Given the description of an element on the screen output the (x, y) to click on. 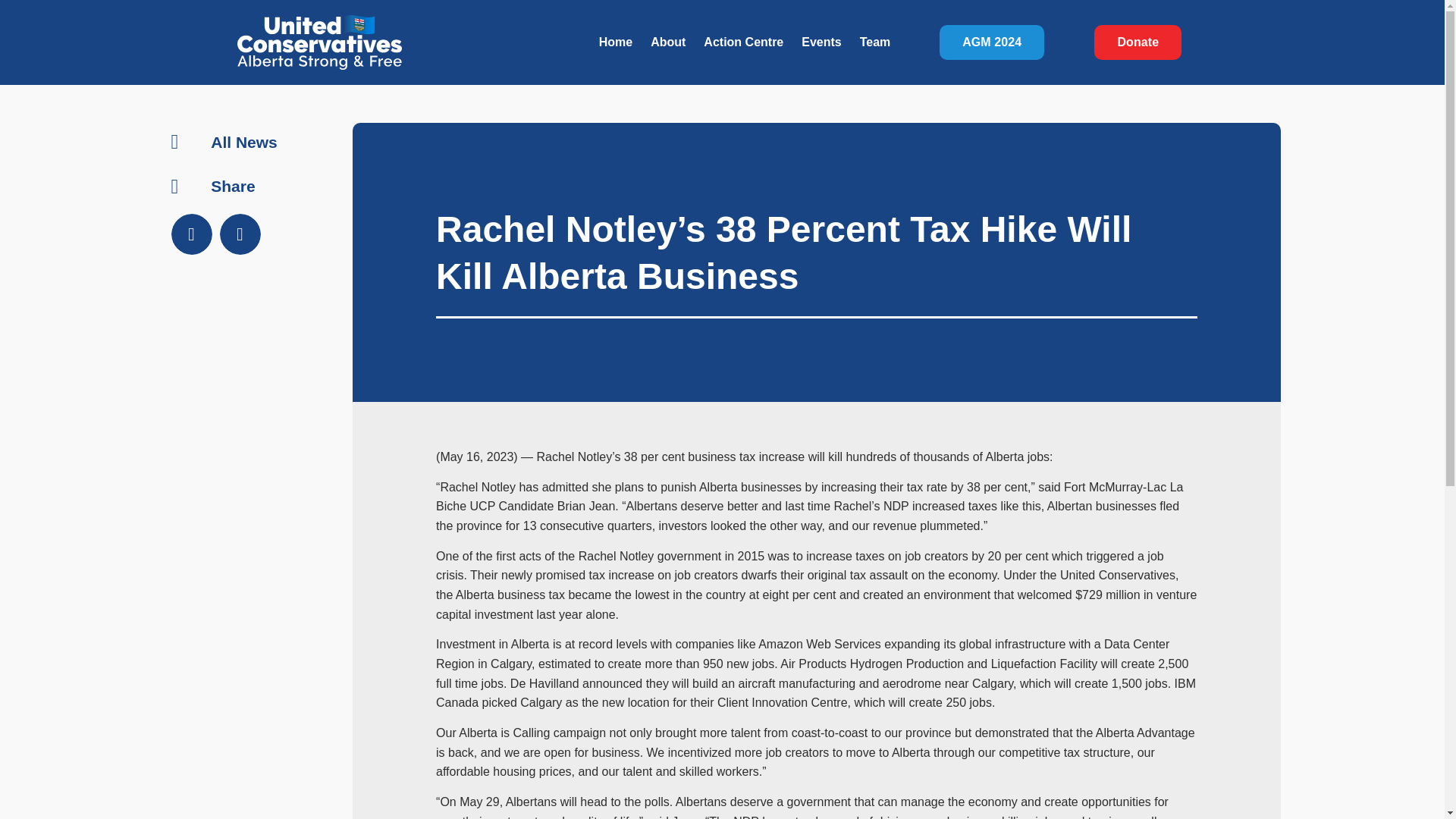
Team (874, 42)
Action Centre (743, 42)
Home (615, 42)
Events (821, 42)
About (668, 42)
